Given the description of an element on the screen output the (x, y) to click on. 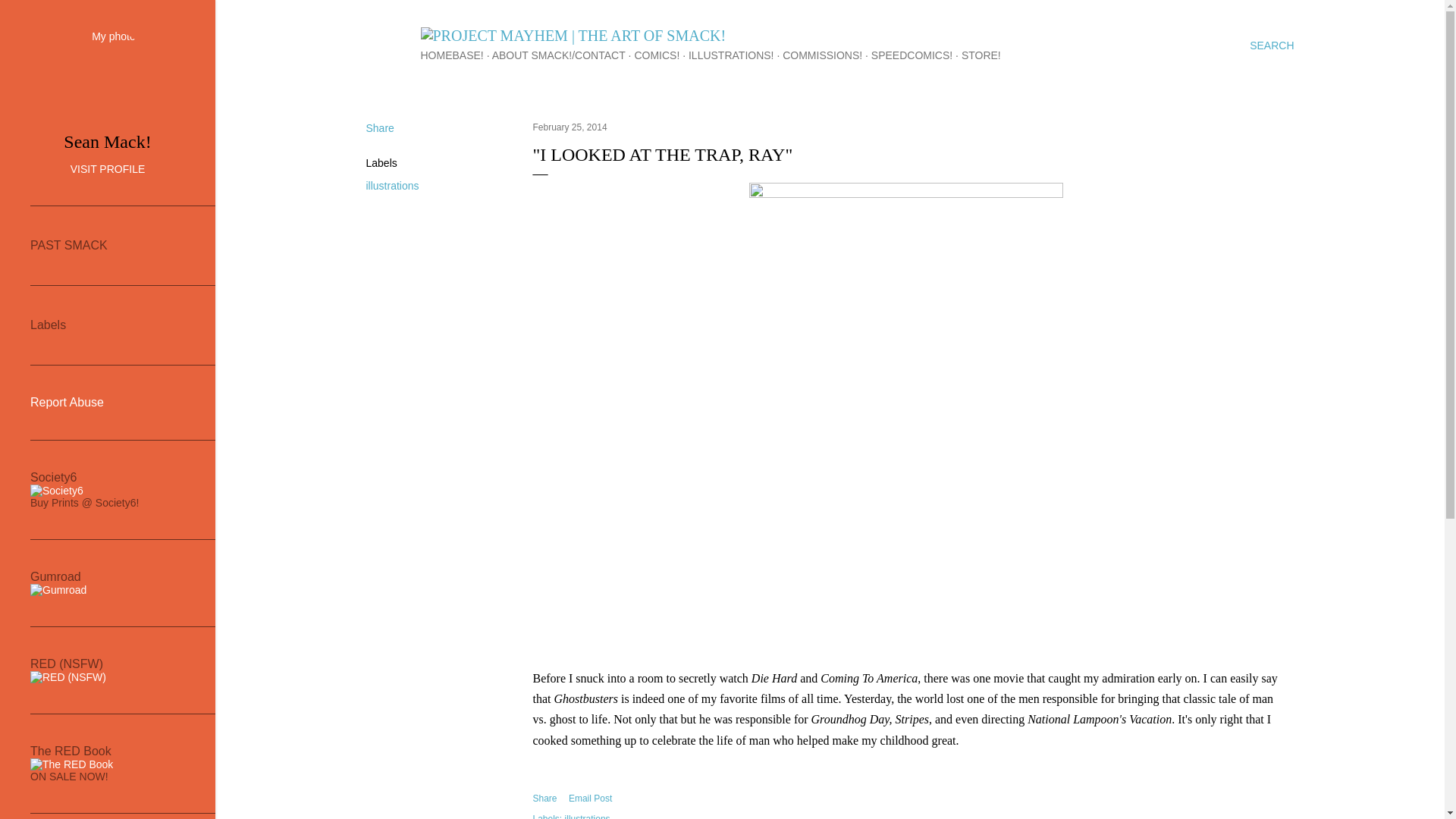
HOMEBASE! (451, 55)
SEARCH (1271, 45)
illustrations (587, 816)
ILLUSTRATIONS! (731, 55)
Share (544, 798)
February 25, 2014 (569, 127)
Share (379, 128)
permanent link (569, 127)
SPEEDCOMICS! (911, 55)
STORE! (980, 55)
Email Post (589, 798)
Sean Mack! (107, 141)
illustrations (392, 185)
VISIT PROFILE (107, 168)
COMICS! (656, 55)
